Given the description of an element on the screen output the (x, y) to click on. 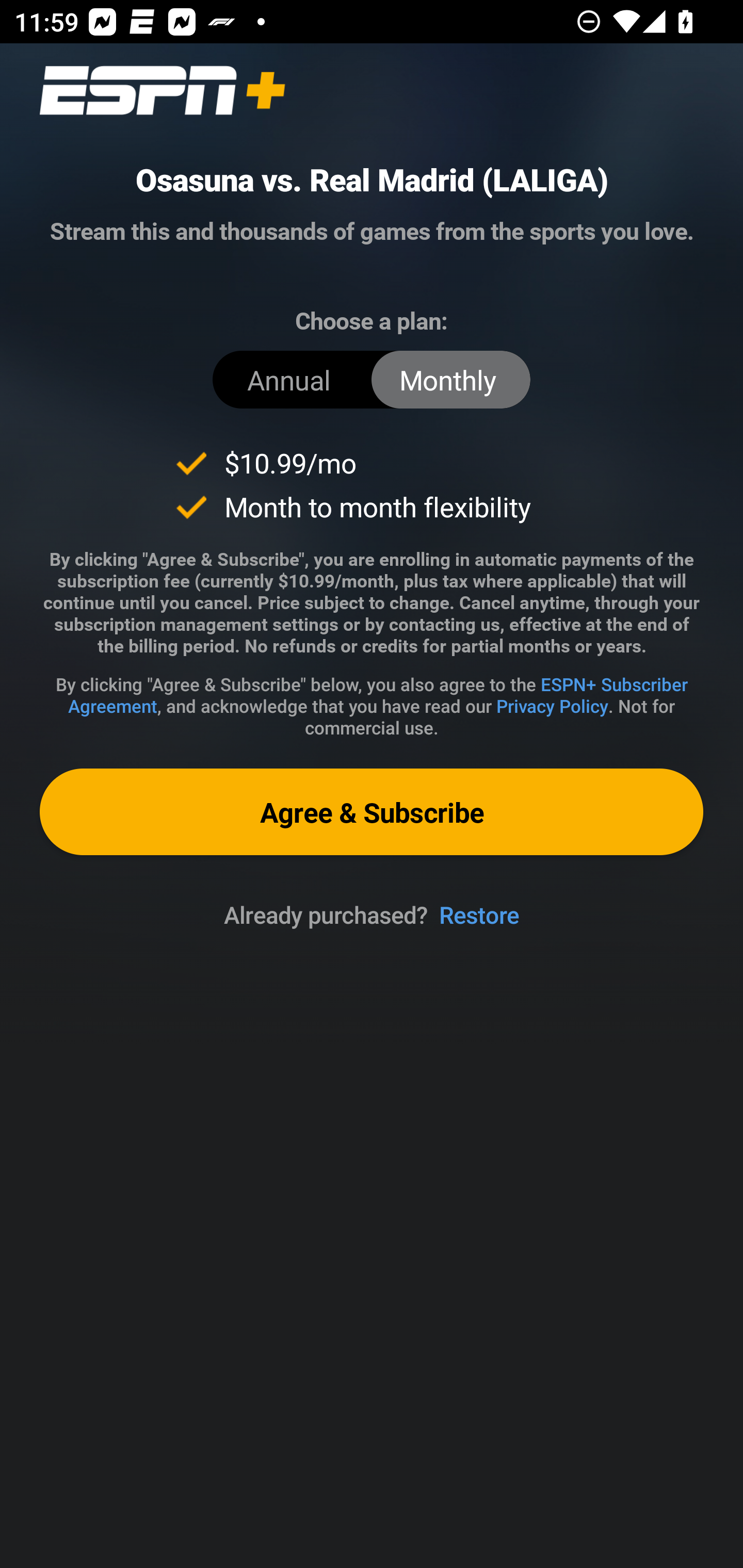
Agree & Subscribe (371, 811)
